Given the description of an element on the screen output the (x, y) to click on. 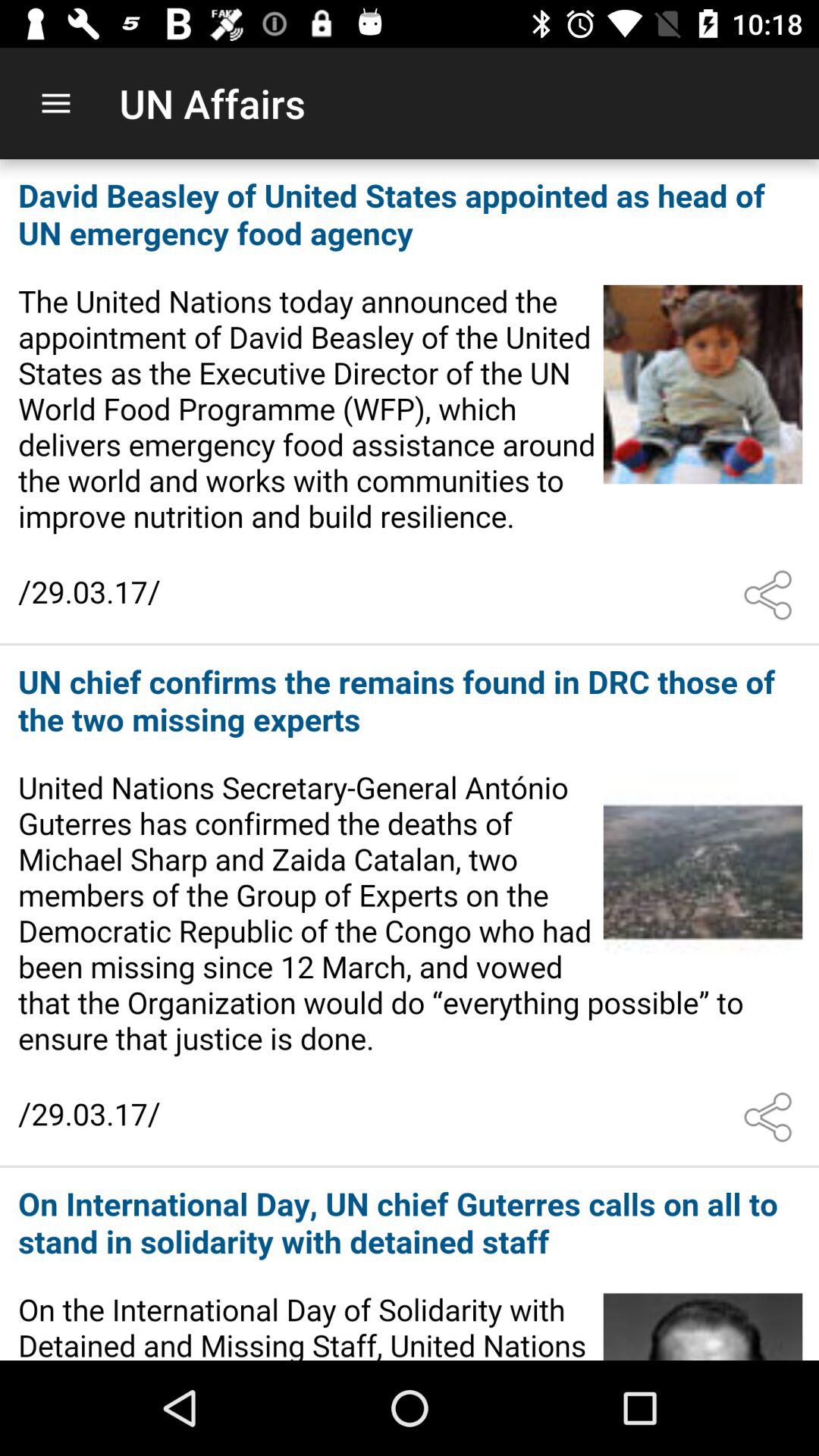
share the article (771, 1117)
